Given the description of an element on the screen output the (x, y) to click on. 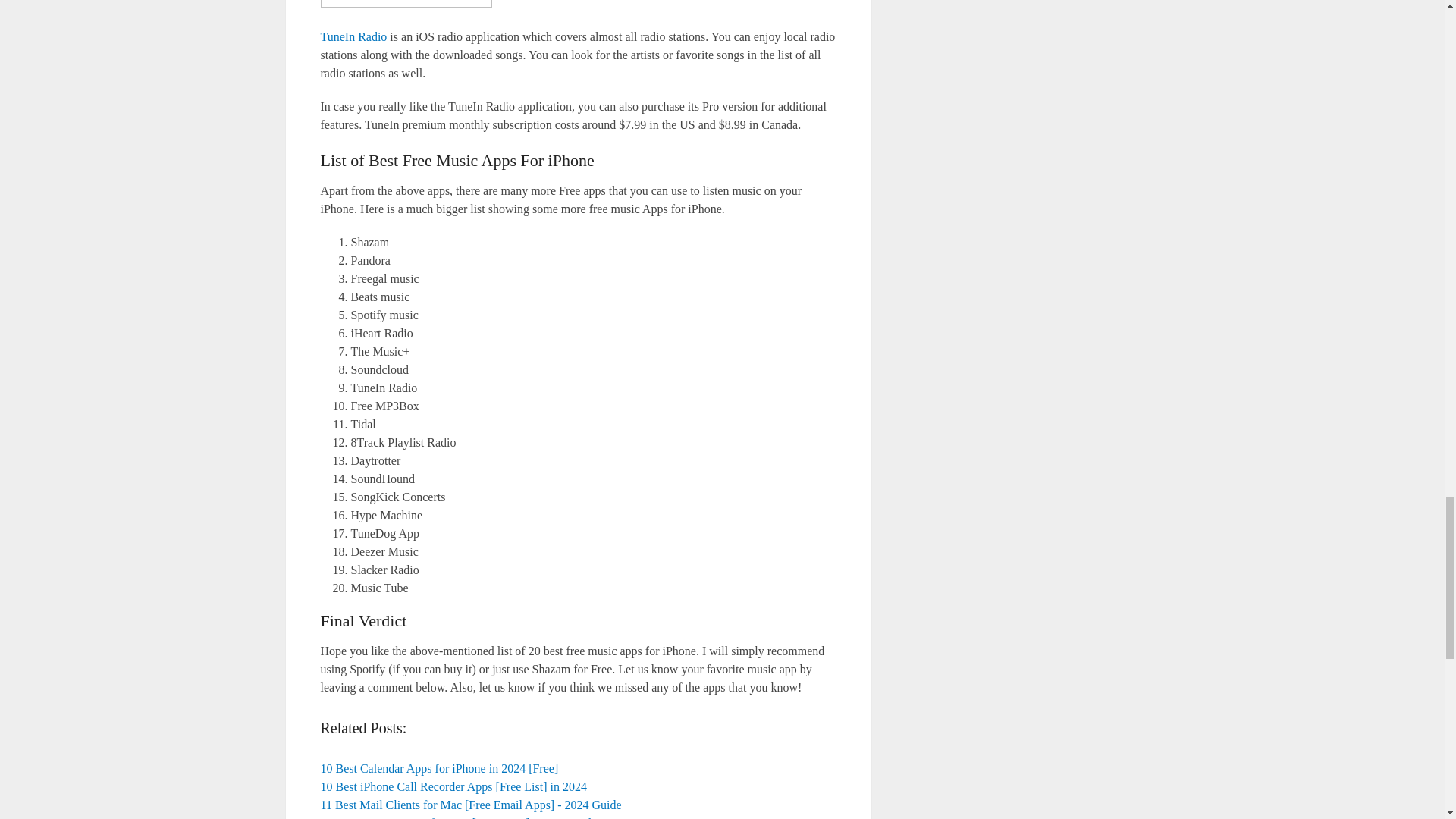
TuneIn Radio (353, 36)
